Given the description of an element on the screen output the (x, y) to click on. 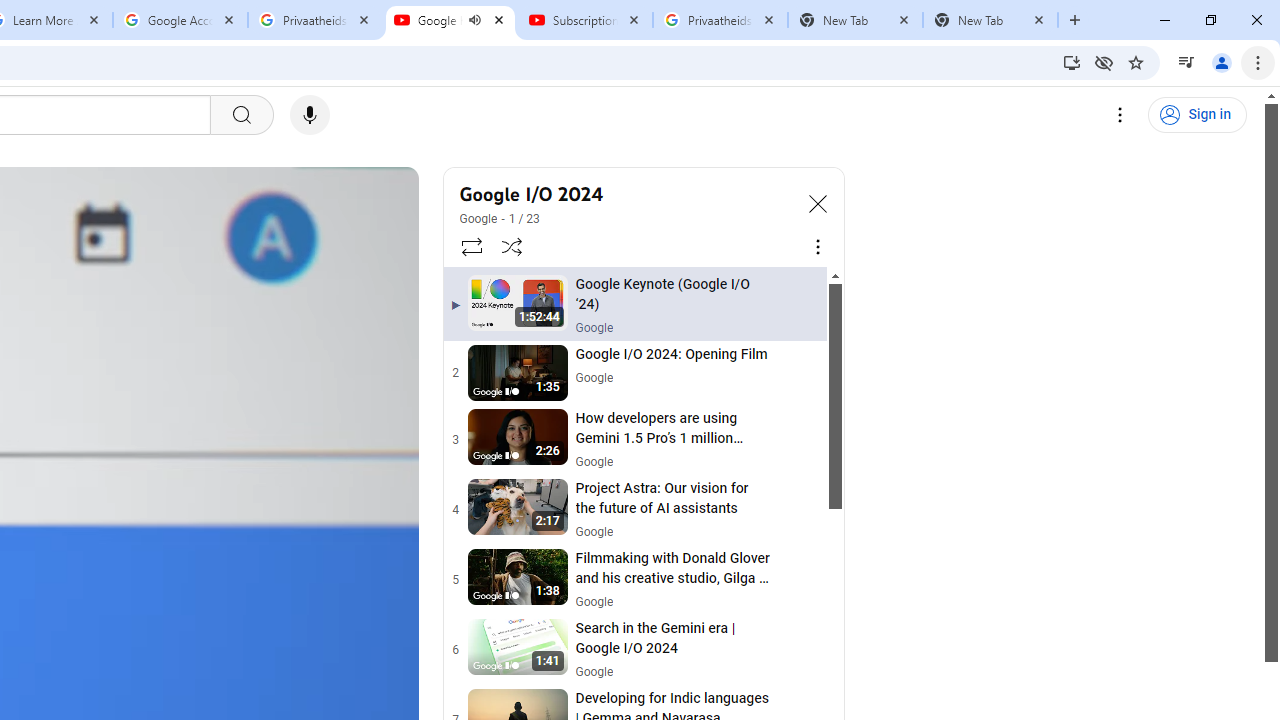
Install YouTube (1071, 62)
Settings (1119, 115)
Loop playlist (470, 246)
Shuffle playlist (511, 246)
